Given the description of an element on the screen output the (x, y) to click on. 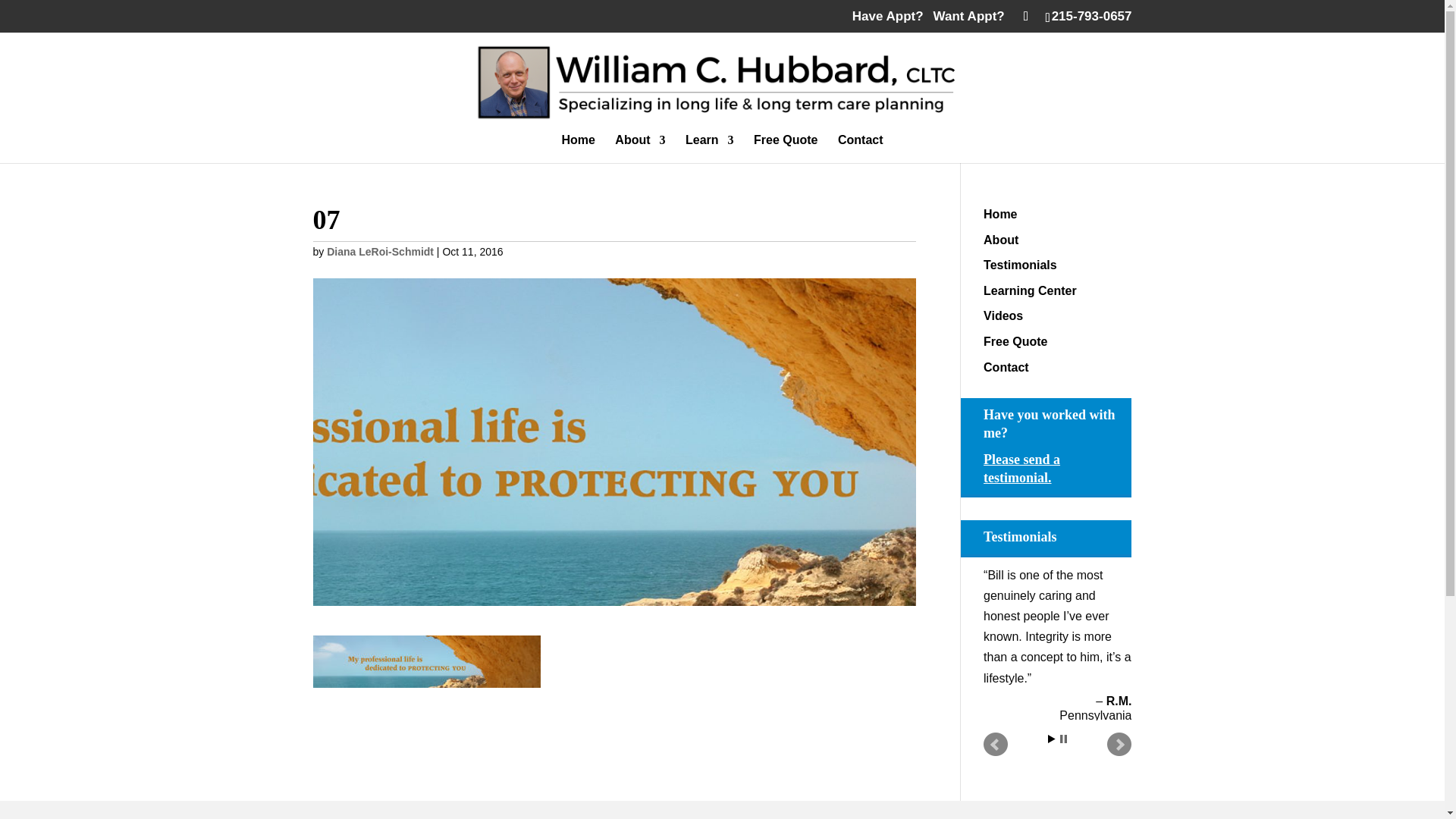
About (1000, 239)
Learning Center (1030, 290)
Videos (1003, 315)
Free Quote (1015, 341)
Want Appt? (968, 16)
Contact (860, 148)
Diana LeRoi-Schmidt (379, 251)
Prev (995, 744)
Posts by Diana LeRoi-Schmidt (379, 251)
Learn (709, 148)
About (639, 148)
Free Quote (785, 148)
Contact (1006, 367)
Testimonials (1020, 264)
Have Appt? (887, 16)
